Given the description of an element on the screen output the (x, y) to click on. 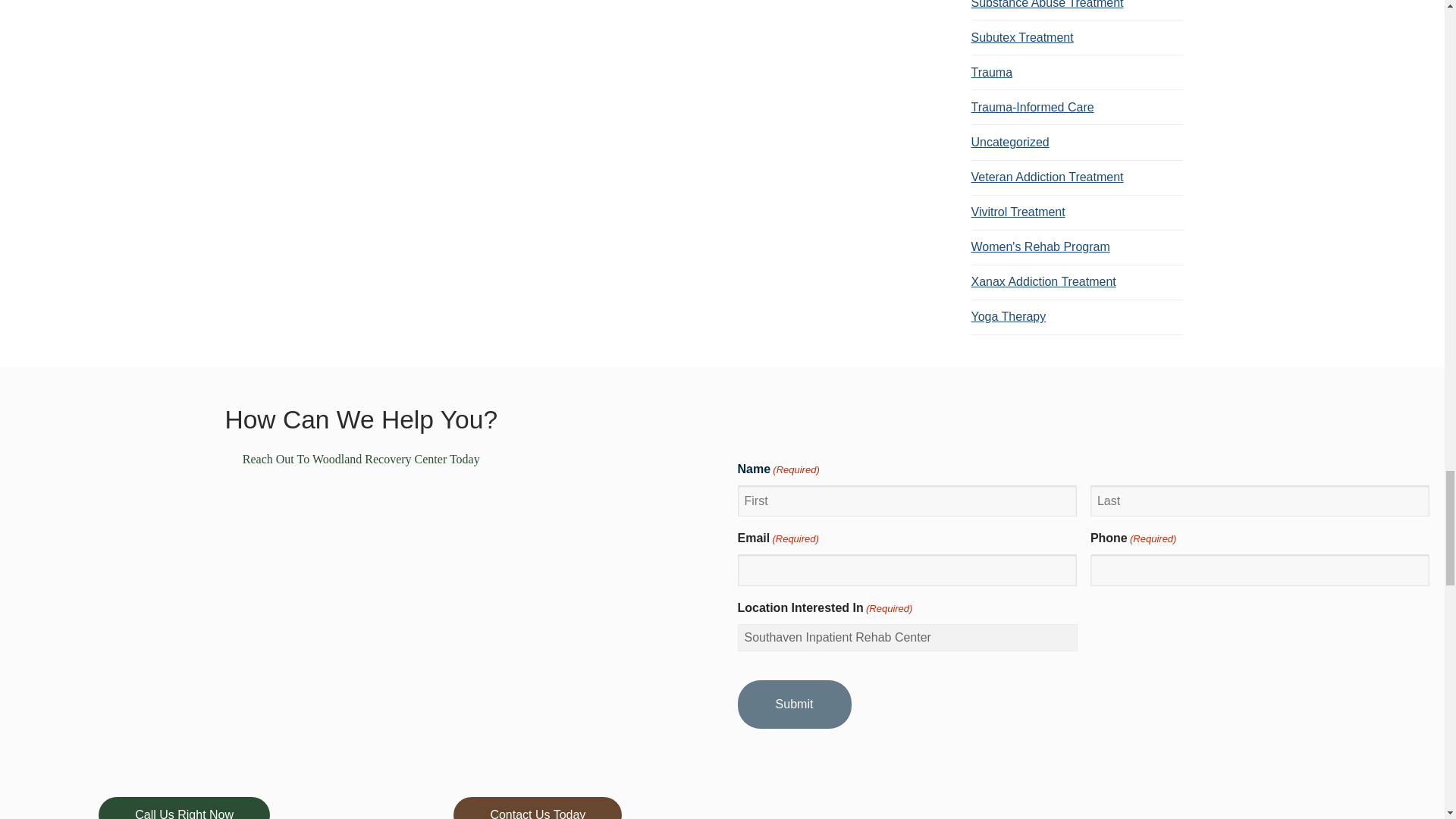
Submit (793, 704)
